Given the description of an element on the screen output the (x, y) to click on. 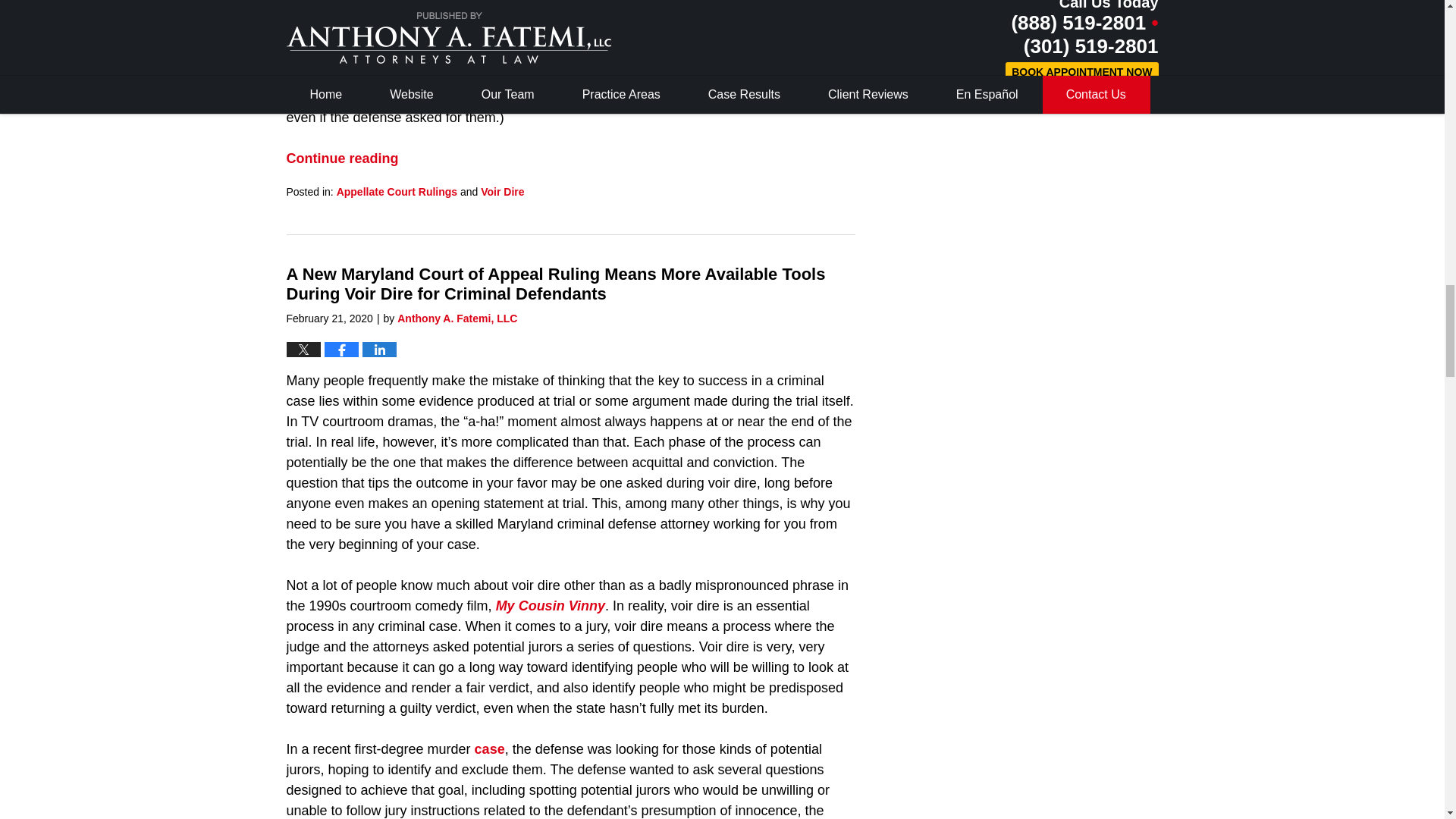
View all posts in Voir Dire (502, 191)
View all posts in Appellate Court Rulings (396, 191)
